Given the description of an element on the screen output the (x, y) to click on. 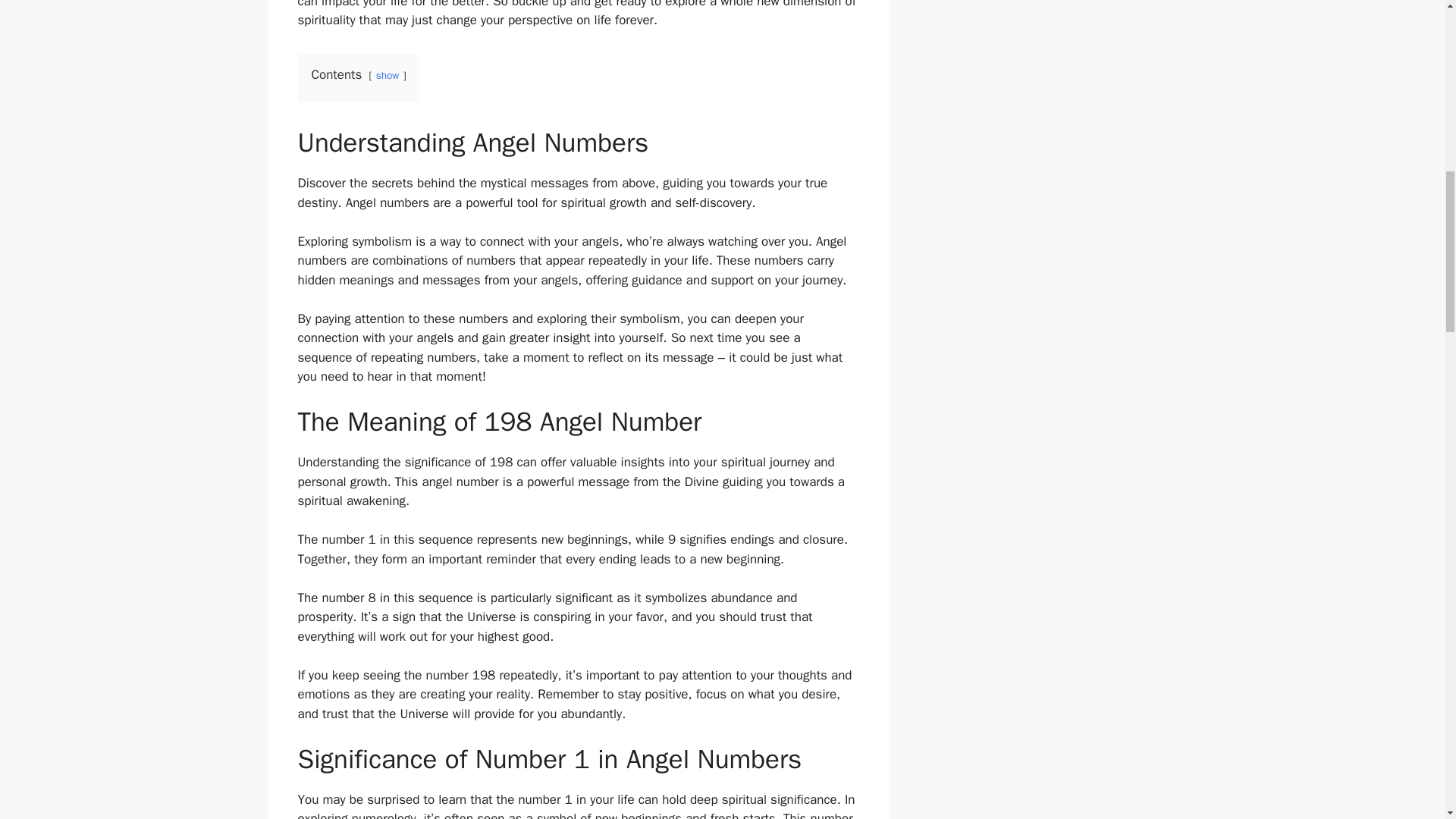
show (386, 74)
